Given the description of an element on the screen output the (x, y) to click on. 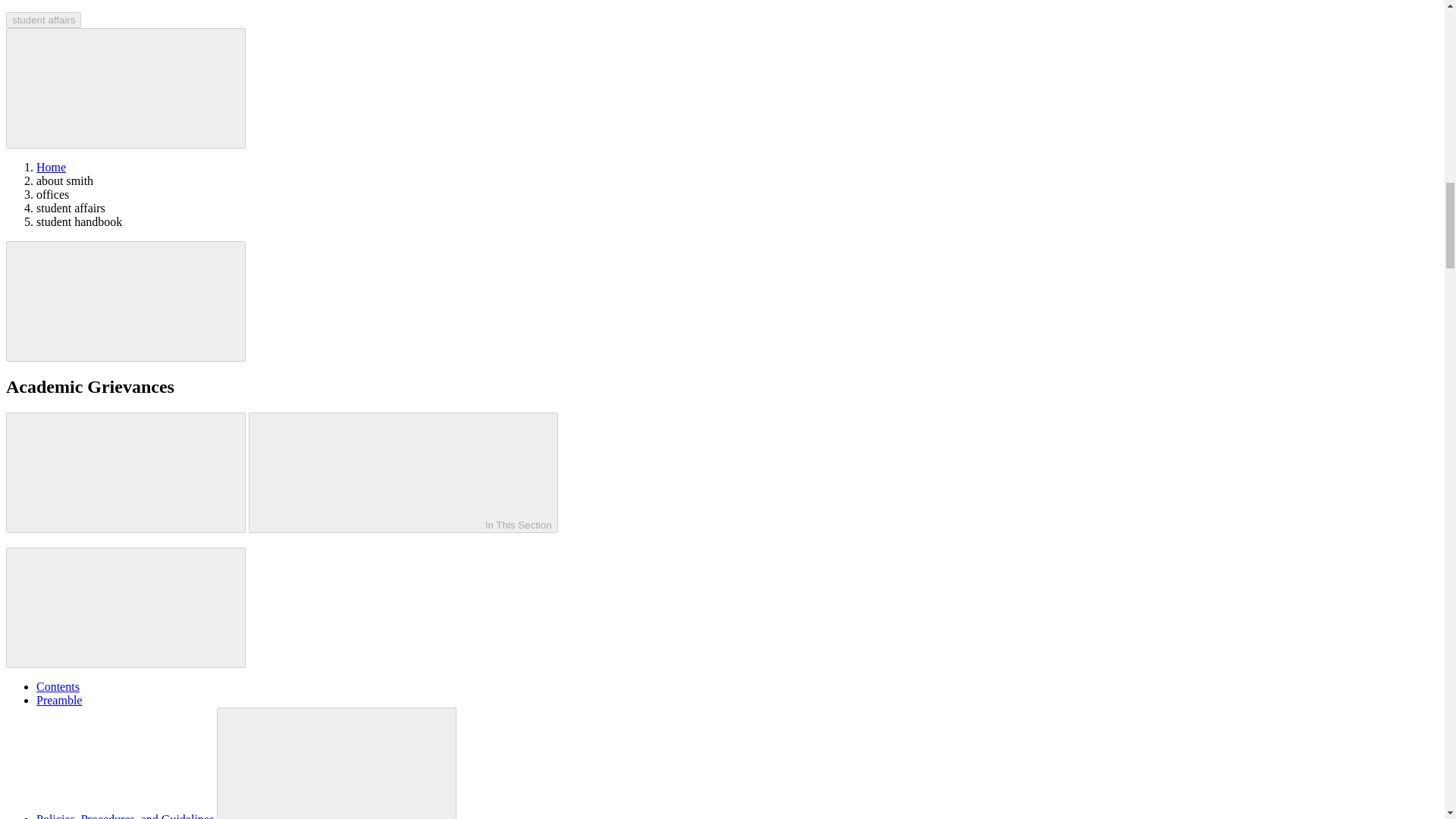
Scroll Left (125, 472)
Scroll Right (125, 300)
Scroll Left (125, 87)
